Given the description of an element on the screen output the (x, y) to click on. 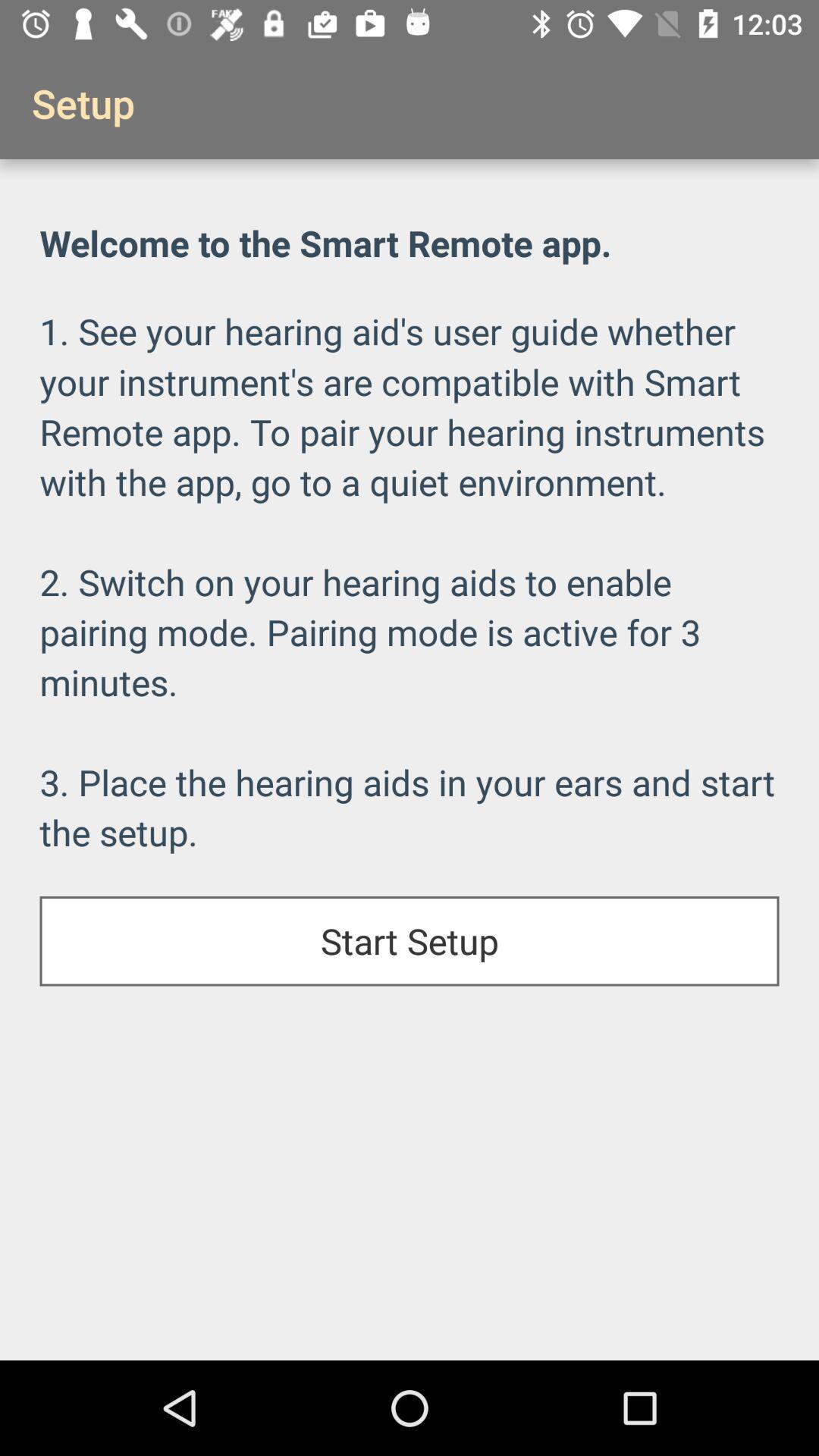
jump until start setup icon (409, 941)
